Given the description of an element on the screen output the (x, y) to click on. 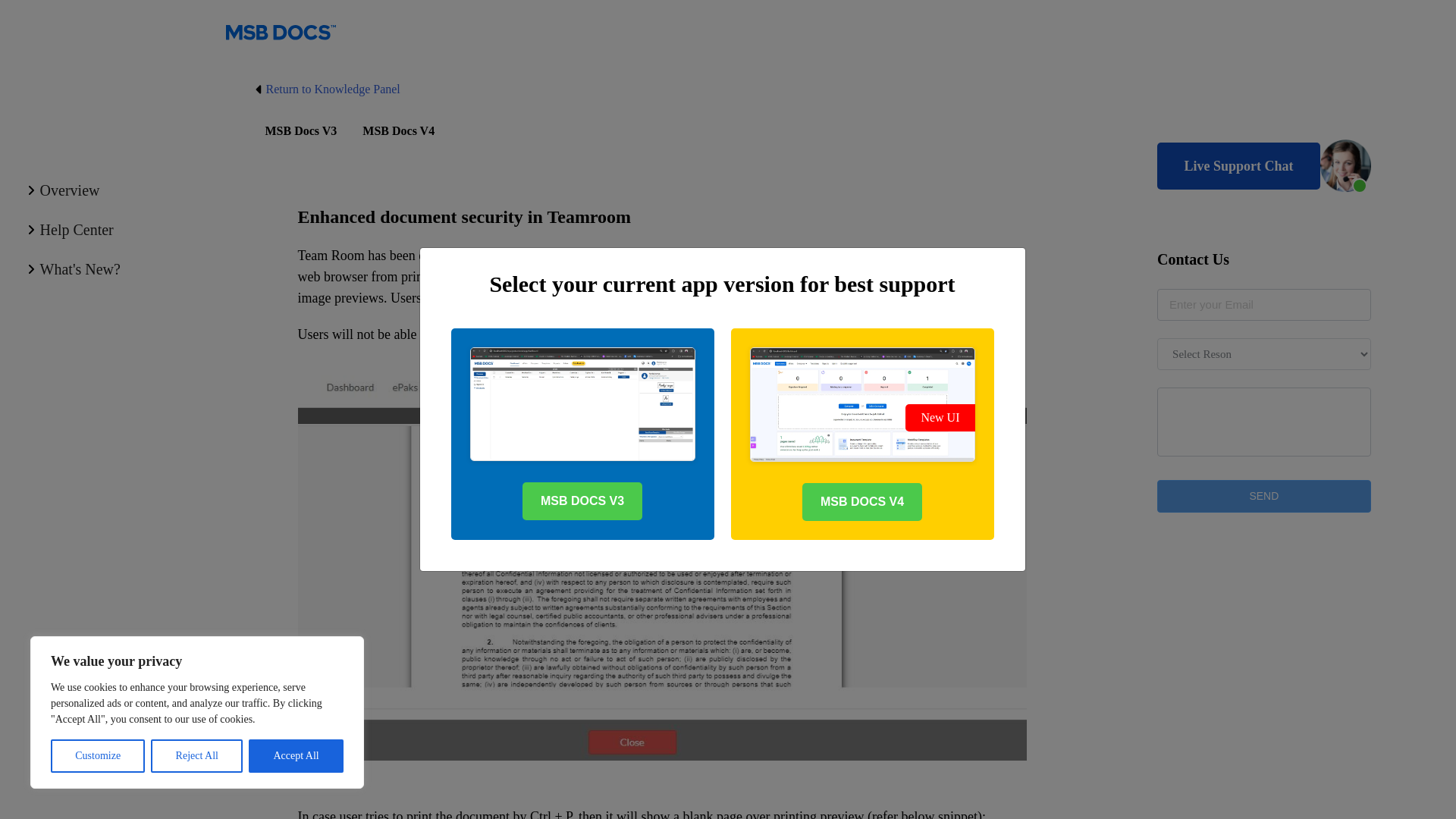
Reject All (197, 756)
Accept All (295, 756)
Customize (97, 756)
